Given the description of an element on the screen output the (x, y) to click on. 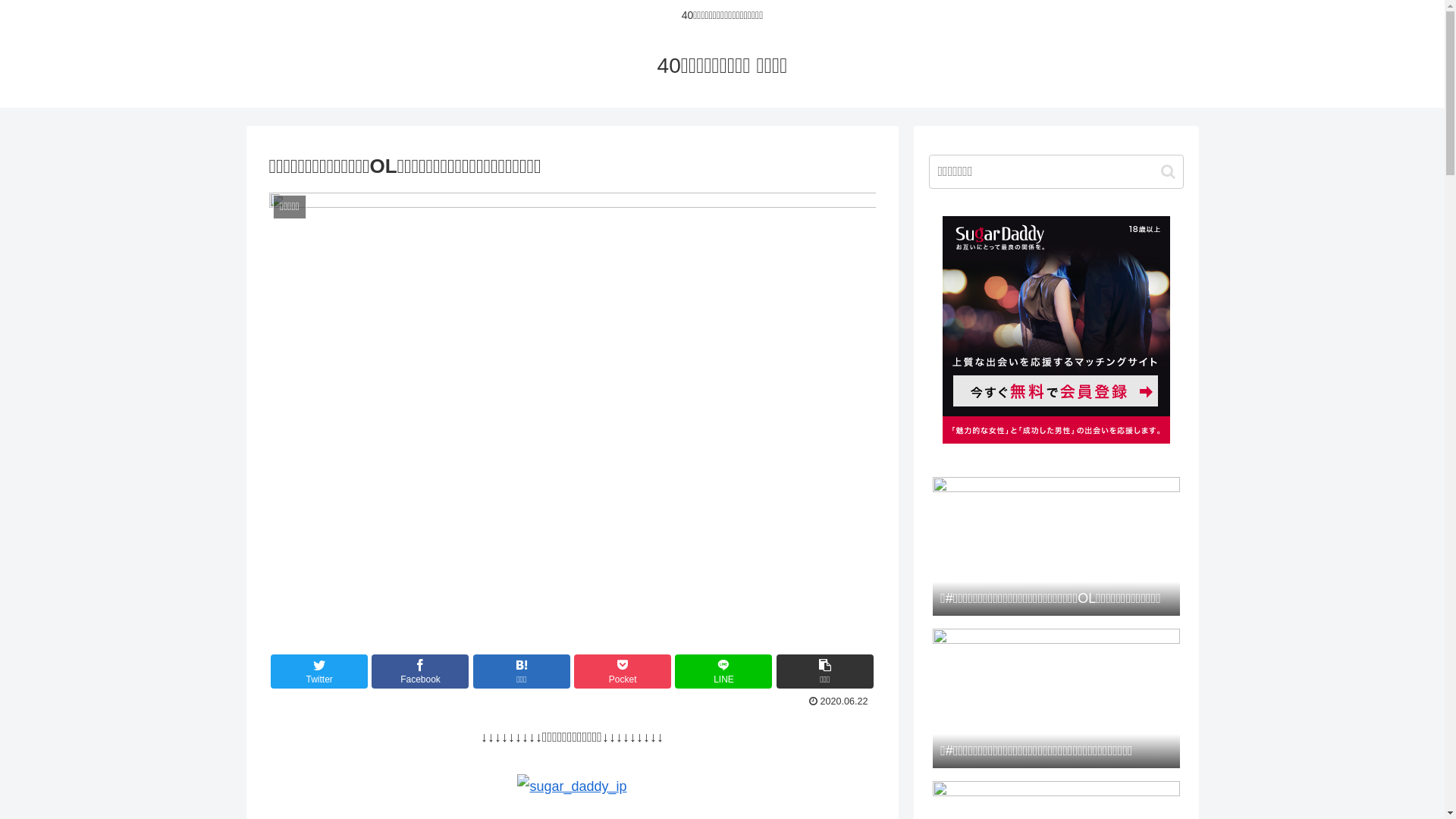
sugar_daddy_lp Element type: hover (571, 785)
Facebook Element type: text (419, 671)
LINE Element type: text (722, 671)
Twitter Element type: text (318, 671)
Pocket Element type: text (622, 671)
